Given the description of an element on the screen output the (x, y) to click on. 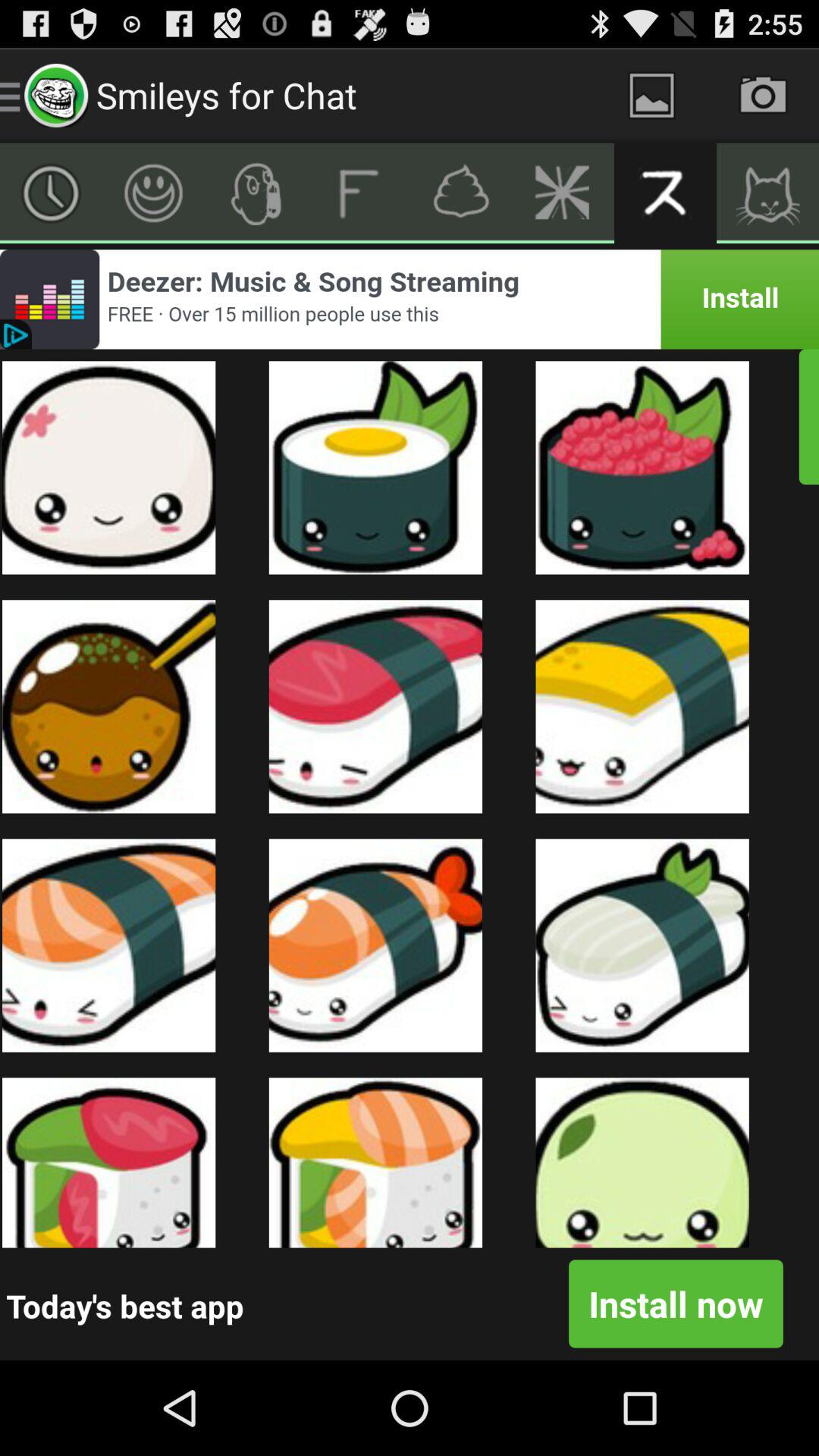
select the image which is right to the sleeping emoji symbol (642, 706)
click on install now (675, 1303)
click on the camera icon (763, 95)
click on the gallery icon (651, 95)
select the third image in the first row (642, 468)
click on the first image in the third row (108, 945)
click on the second image in the third row (375, 945)
select the image which is in the last row second image (375, 1162)
